Given the description of an element on the screen output the (x, y) to click on. 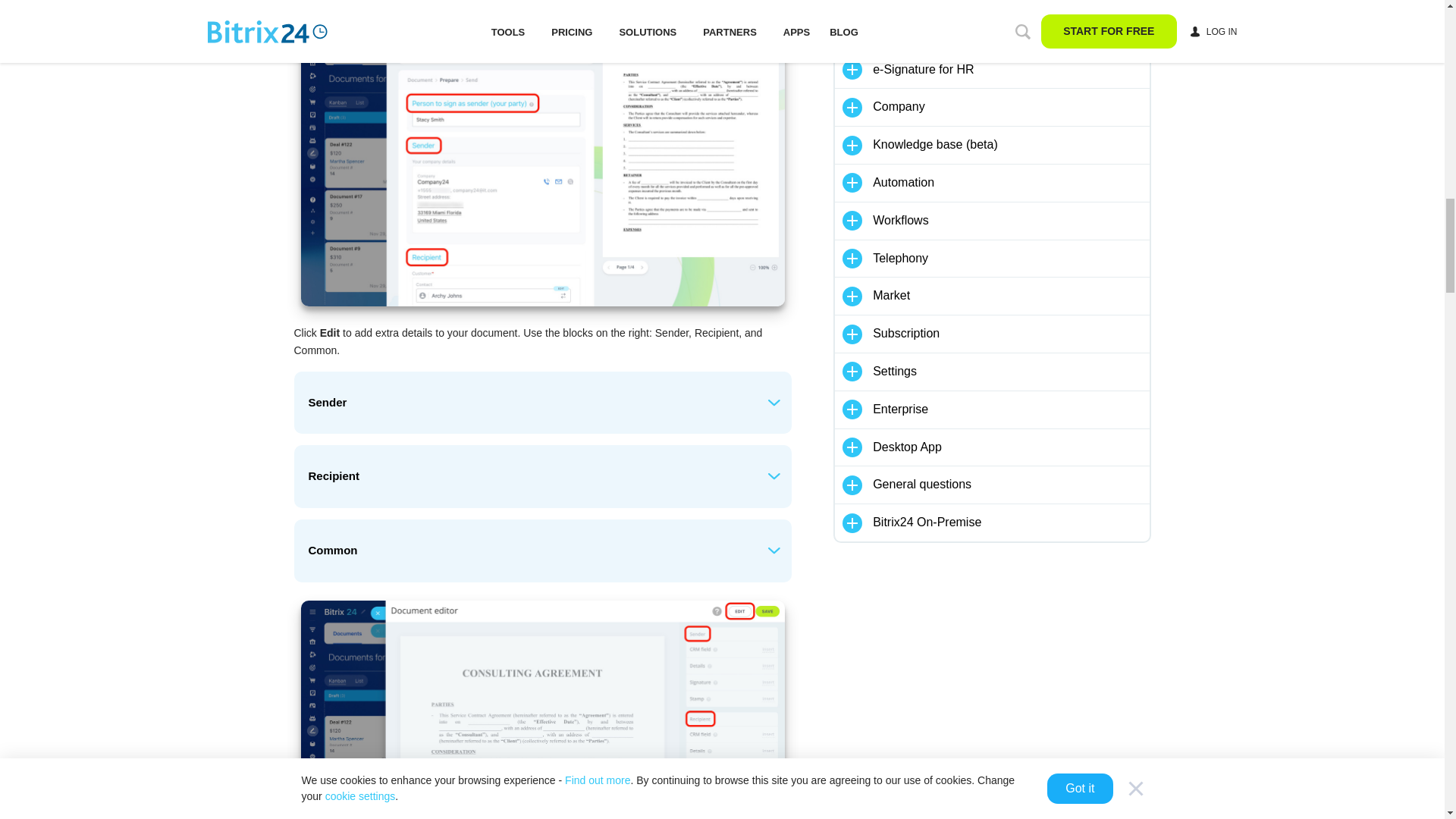
Automation in e-Signature (1010, 2)
Edit contract (541, 709)
